Given the description of an element on the screen output the (x, y) to click on. 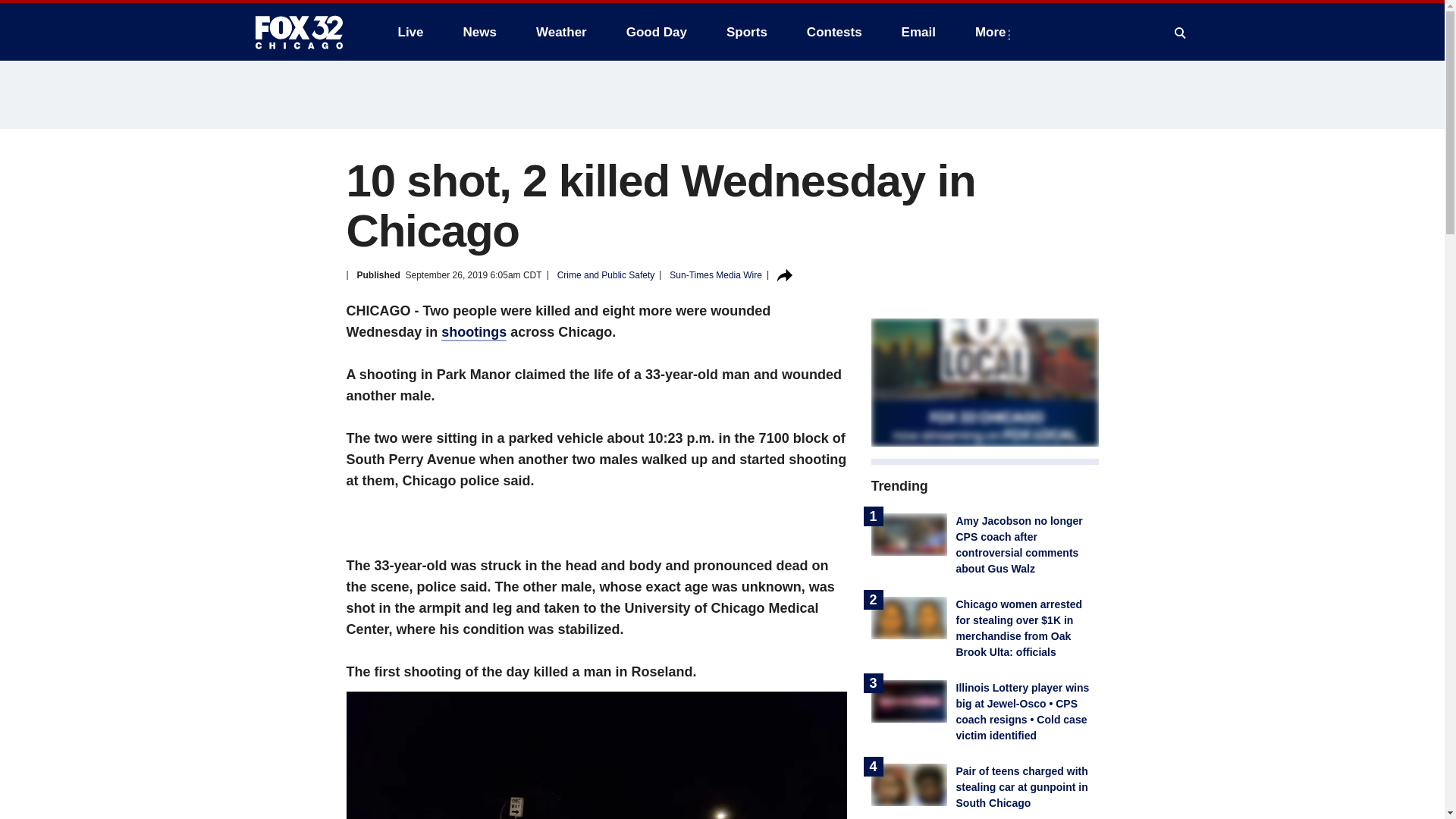
News (479, 32)
Weather (561, 32)
Contests (834, 32)
Good Day (656, 32)
Sports (746, 32)
Email (918, 32)
More (993, 32)
Live (410, 32)
